Given the description of an element on the screen output the (x, y) to click on. 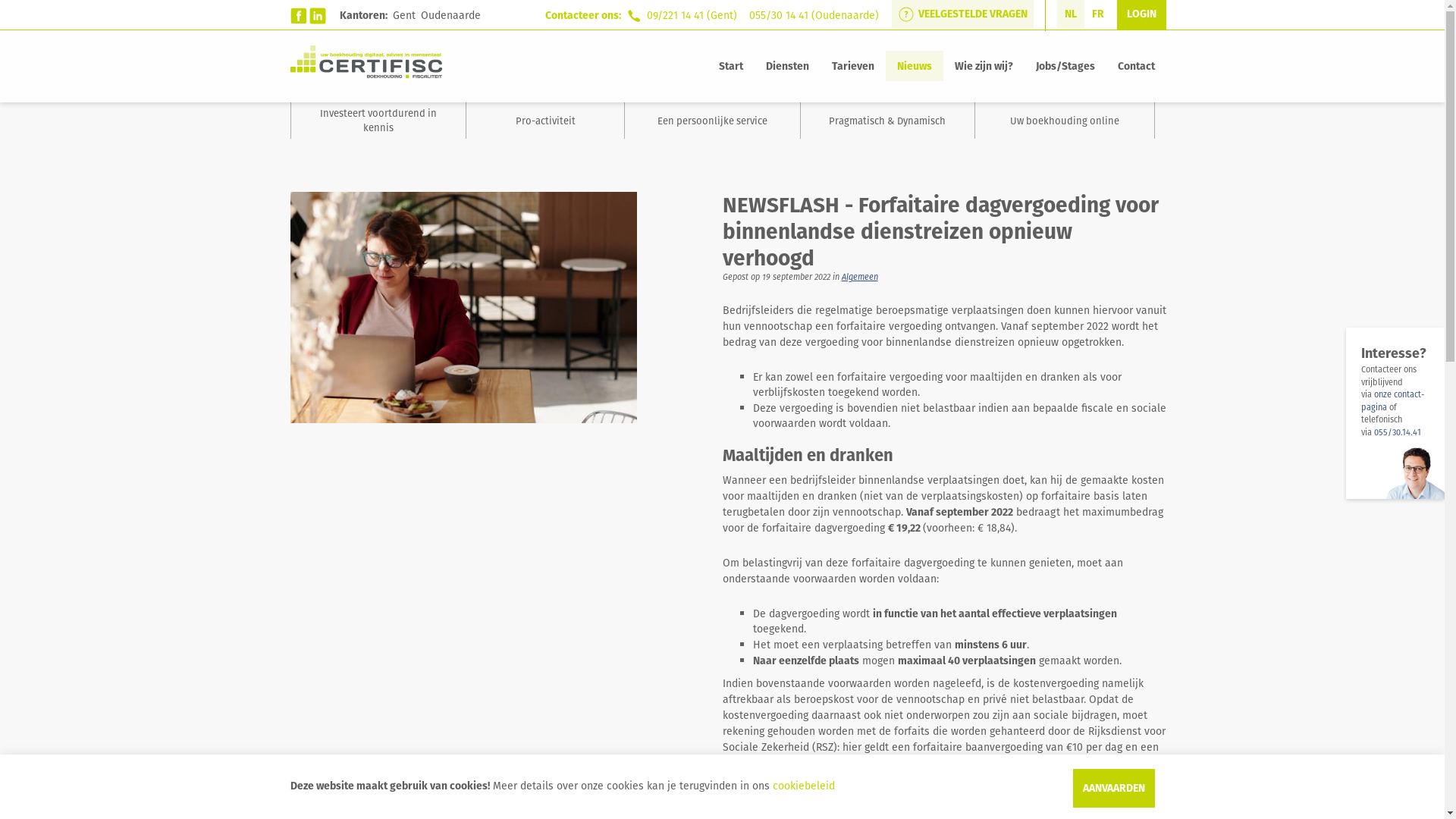
VEELGESTELDE VRAGEN Element type: text (962, 14)
055/30 14 41 (Oudenaarde) Element type: text (813, 14)
Contact Element type: text (1135, 65)
Wie zijn wij? Element type: text (983, 65)
Jobs/Stages Element type: text (1064, 65)
Nieuws Element type: text (914, 65)
Tarieven Element type: text (852, 65)
Start Element type: text (729, 65)
onze contact- pagina Element type: text (1392, 400)
Certifisc Element type: text (365, 61)
09/221 14 41 (Gent) Element type: text (691, 14)
Gent Element type: text (403, 14)
Oudenaarde Element type: text (450, 14)
AANVAARDEN Element type: text (1113, 787)
055/30.14.41 Element type: text (1397, 432)
LOGIN Element type: text (1140, 14)
cookiebeleid Element type: text (802, 785)
Algemeen Element type: text (859, 276)
Diensten Element type: text (786, 65)
